Given the description of an element on the screen output the (x, y) to click on. 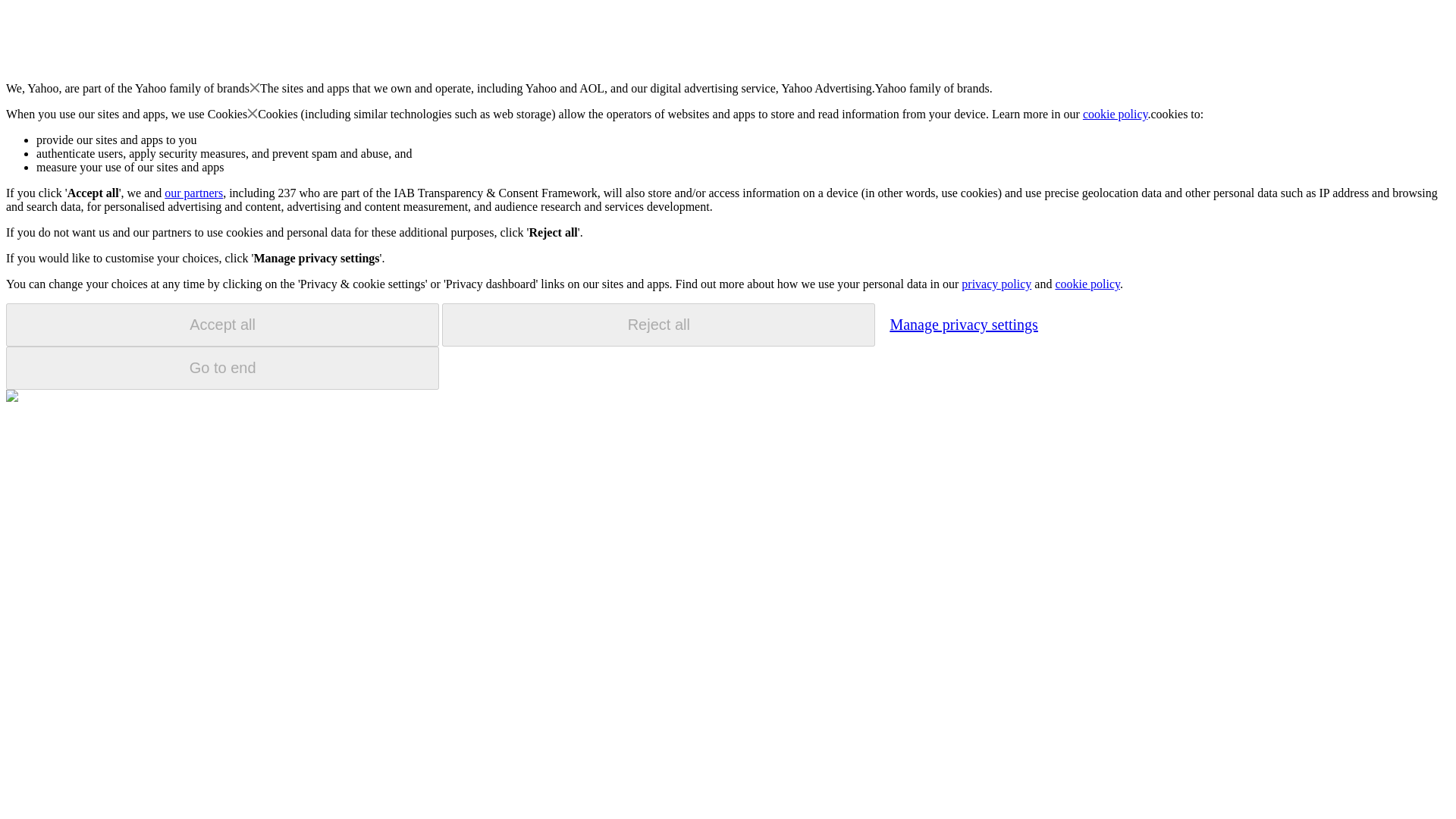
Accept all (222, 324)
Go to end (222, 367)
privacy policy (995, 283)
cookie policy (1115, 113)
Reject all (658, 324)
our partners (193, 192)
cookie policy (1086, 283)
Manage privacy settings (963, 323)
